Given the description of an element on the screen output the (x, y) to click on. 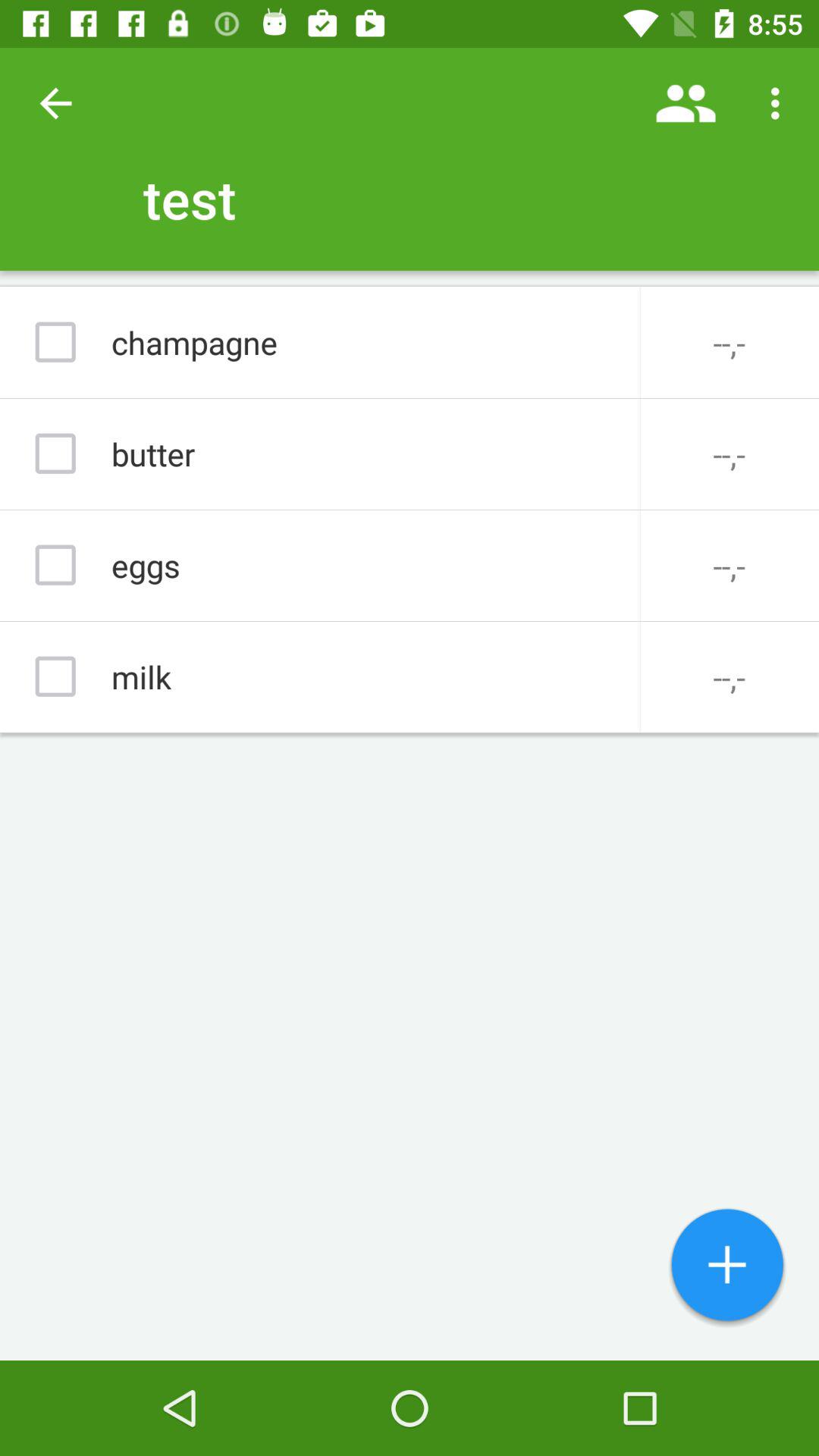
turn off icon next to test icon (685, 103)
